Given the description of an element on the screen output the (x, y) to click on. 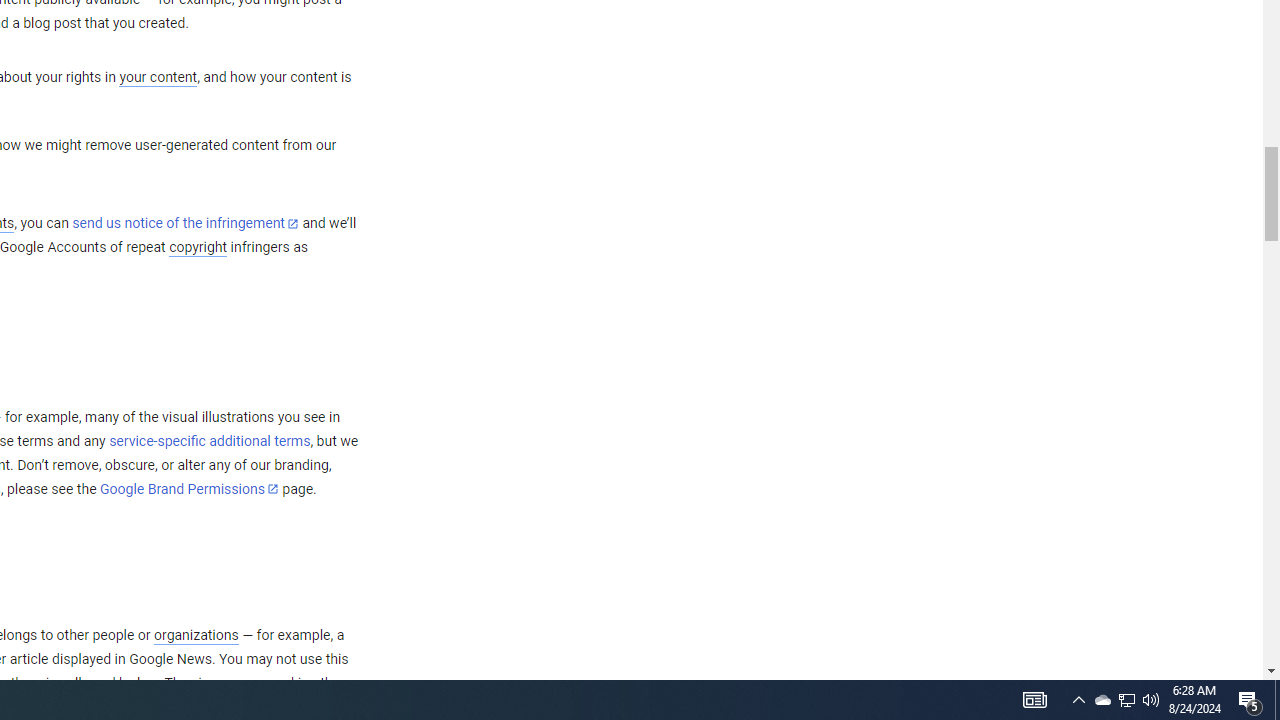
your content (158, 78)
send us notice of the infringement (185, 224)
organizations (196, 635)
service-specific additional terms (209, 441)
copyright (197, 248)
Google Brand Permissions (189, 489)
